Given the description of an element on the screen output the (x, y) to click on. 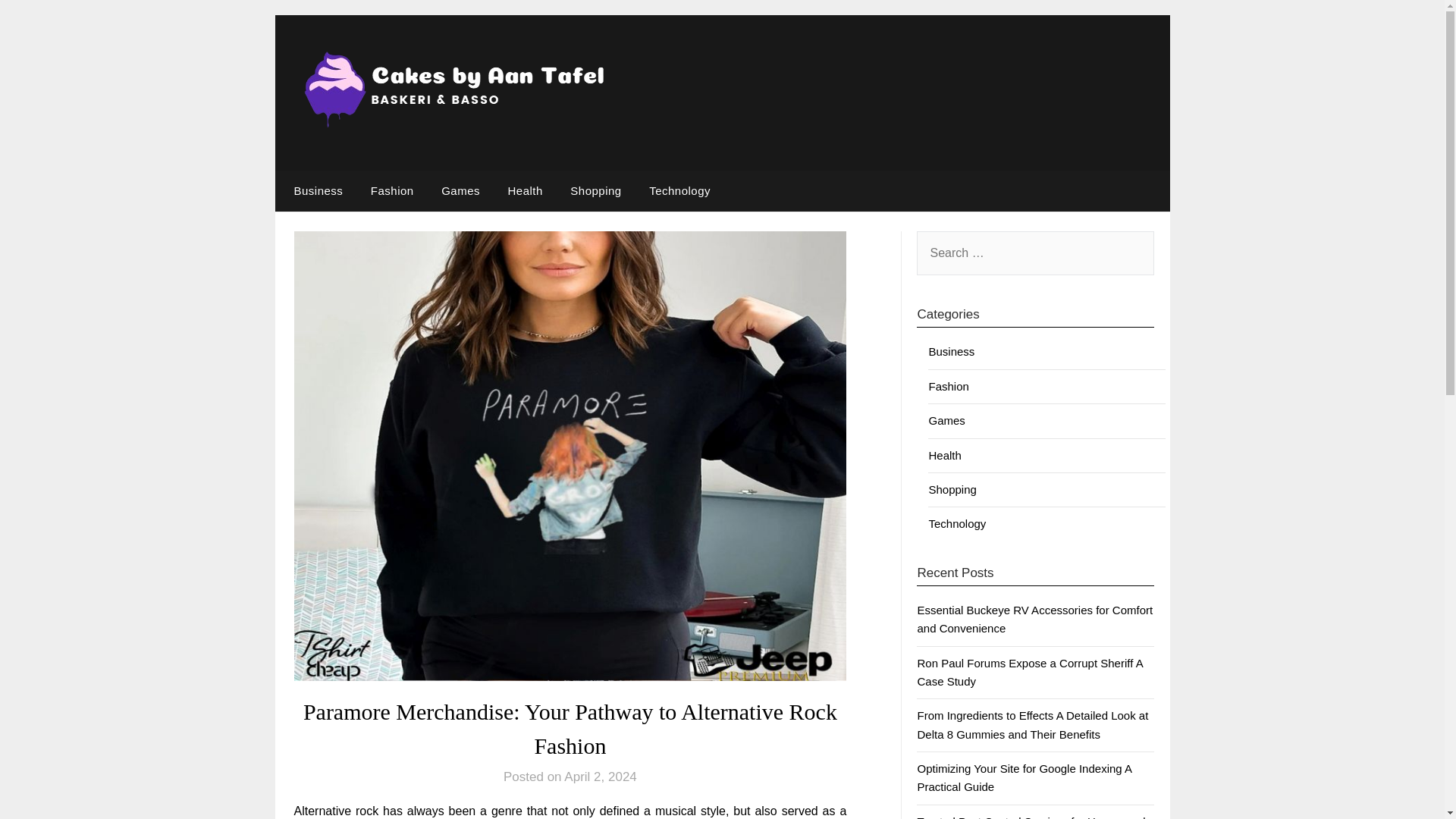
Health (524, 190)
Optimizing Your Site for Google Indexing A Practical Guide (1024, 777)
Fashion (392, 190)
Business (951, 350)
Health (944, 454)
Search (38, 22)
Essential Buckeye RV Accessories for Comfort and Convenience (1035, 618)
Shopping (595, 190)
Technology (679, 190)
Shopping (951, 489)
Fashion (948, 386)
Games (945, 420)
Technology (956, 522)
Business (315, 190)
